Given the description of an element on the screen output the (x, y) to click on. 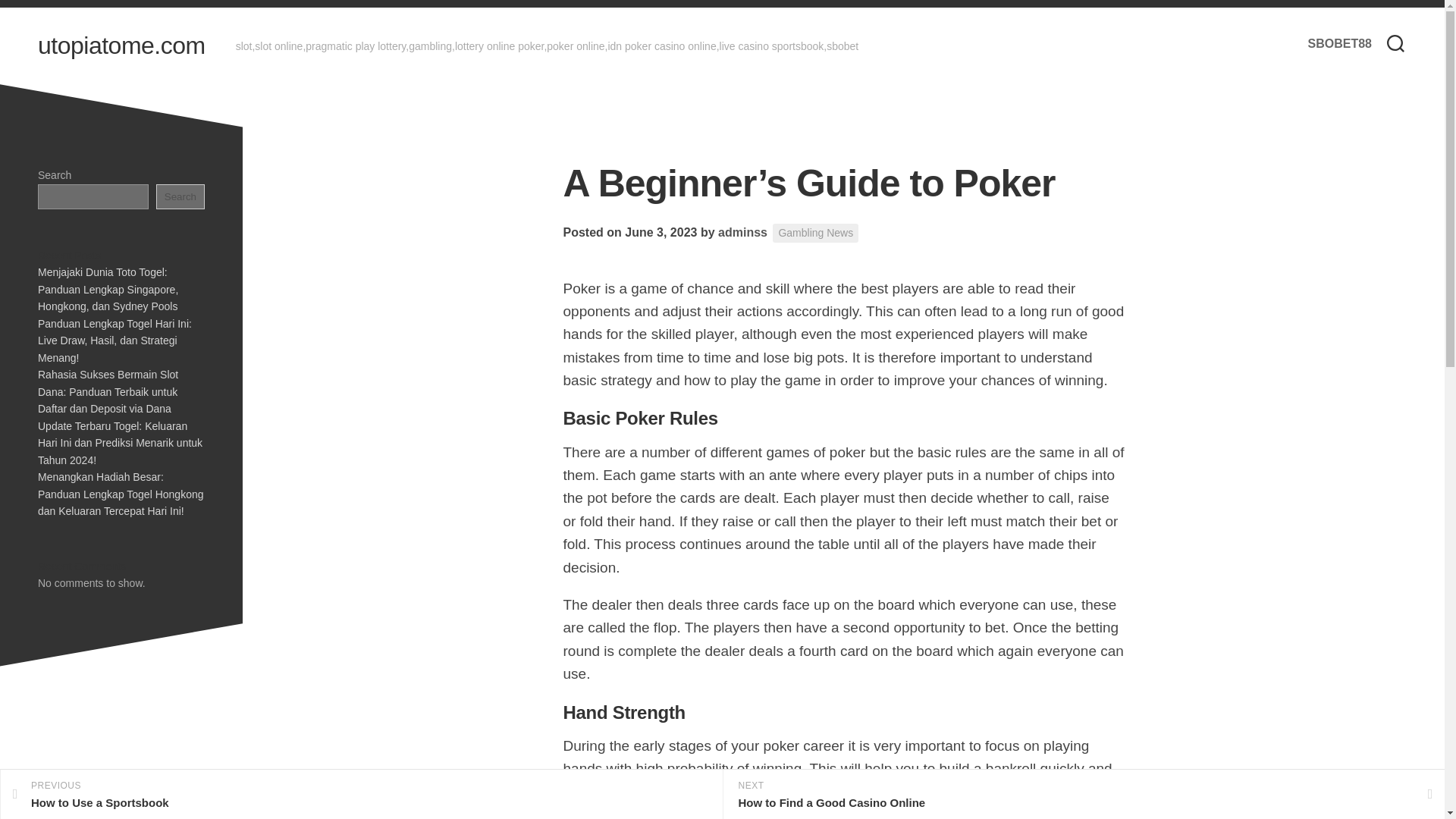
adminss (742, 232)
Search (180, 195)
utopiatome.com (121, 44)
Posts by adminss (361, 794)
Gambling News (742, 232)
